Given the description of an element on the screen output the (x, y) to click on. 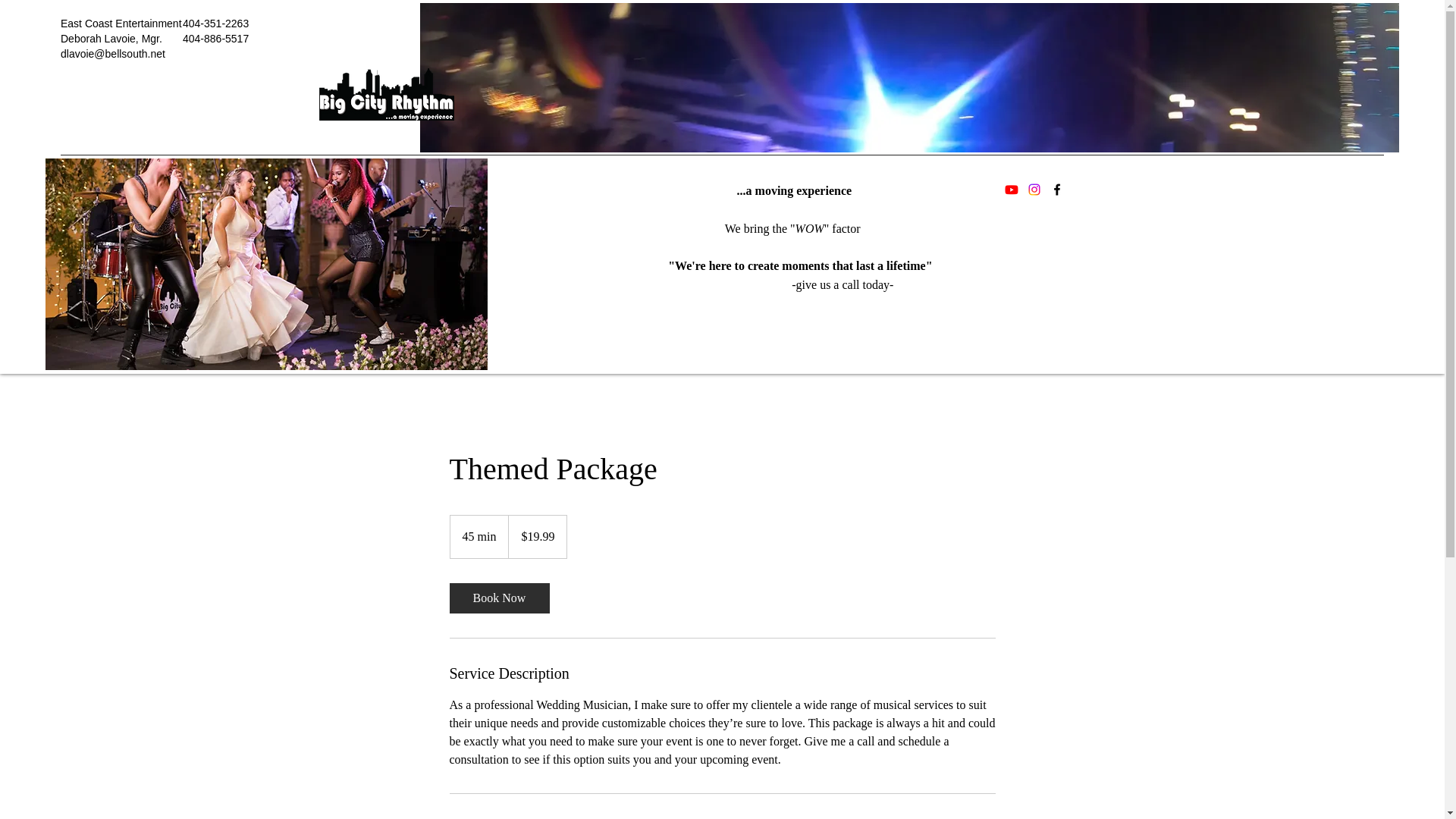
Book Now (498, 598)
